Given the description of an element on the screen output the (x, y) to click on. 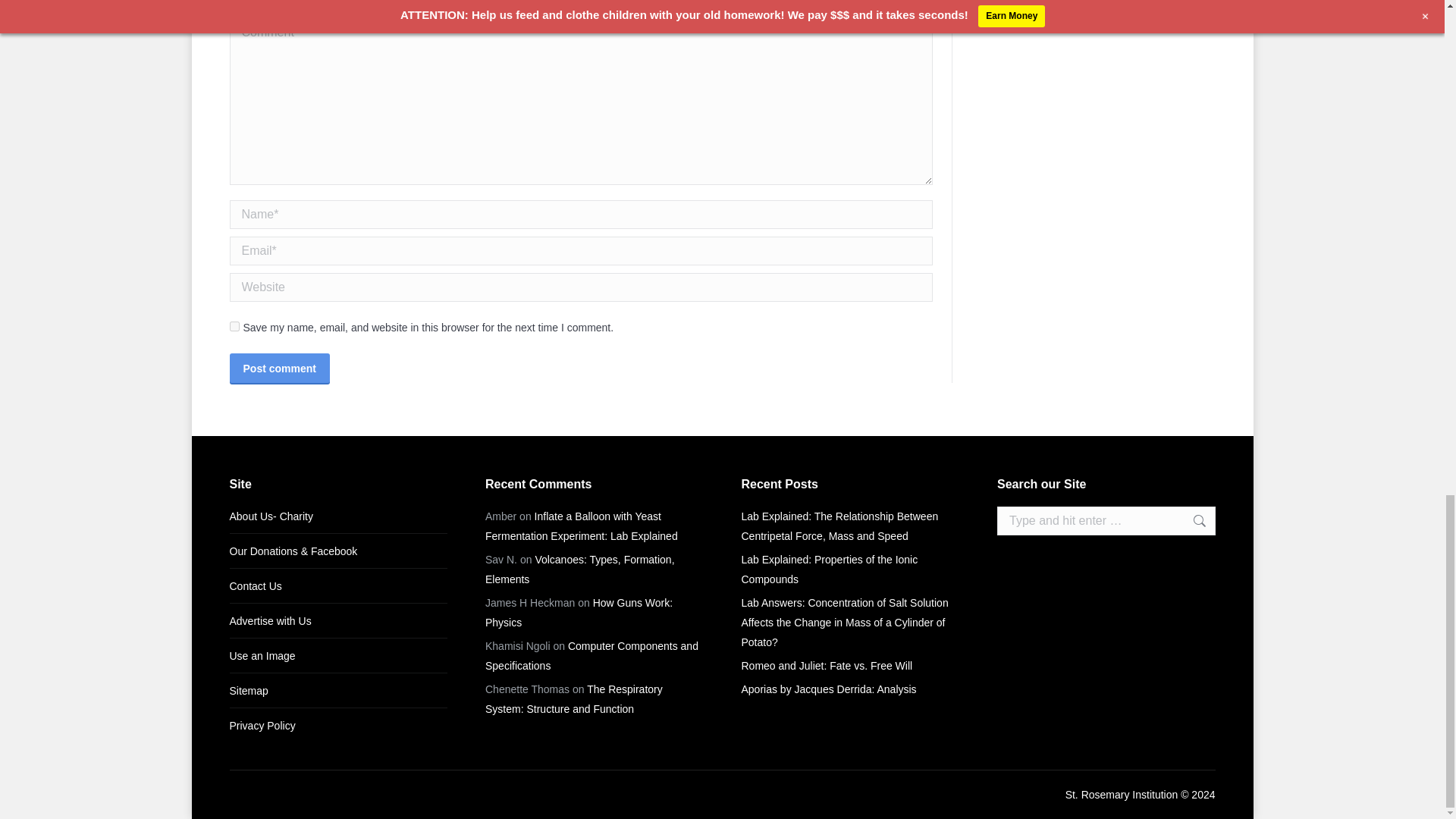
Go! (1191, 520)
Post comment (278, 367)
Go! (1191, 520)
Use an Image (261, 655)
Advertise with Us (269, 620)
yes (233, 326)
About Us- Charity (270, 516)
Contact Us (254, 586)
